Given the description of an element on the screen output the (x, y) to click on. 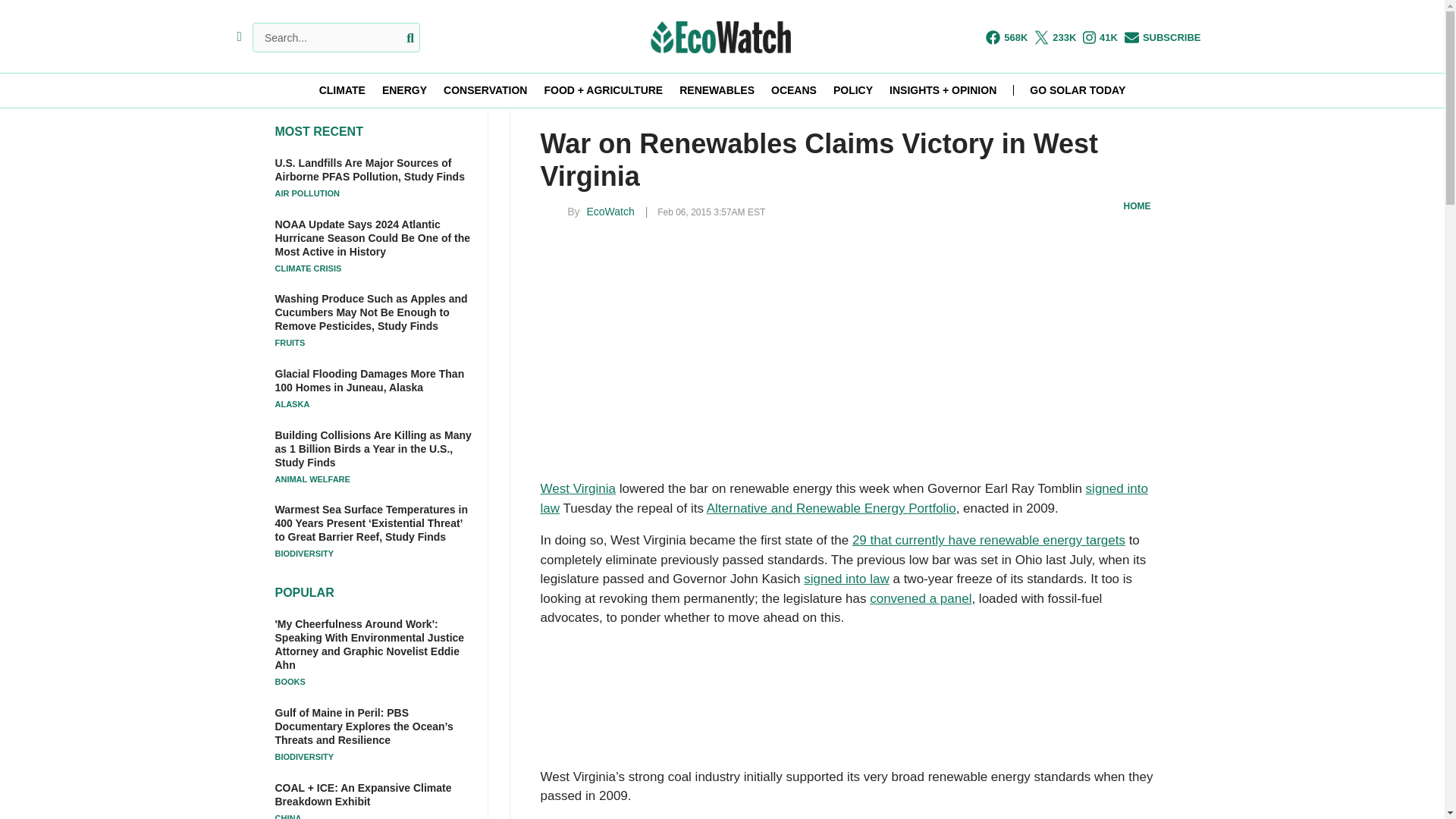
ENERGY (403, 90)
CONSERVATION (485, 90)
41K (1099, 37)
POLICY (852, 90)
568K (1006, 37)
233K (1054, 37)
GO SOLAR TODAY (1077, 90)
CLIMATE (341, 90)
OCEANS (793, 90)
RENEWABLES (716, 90)
